Given the description of an element on the screen output the (x, y) to click on. 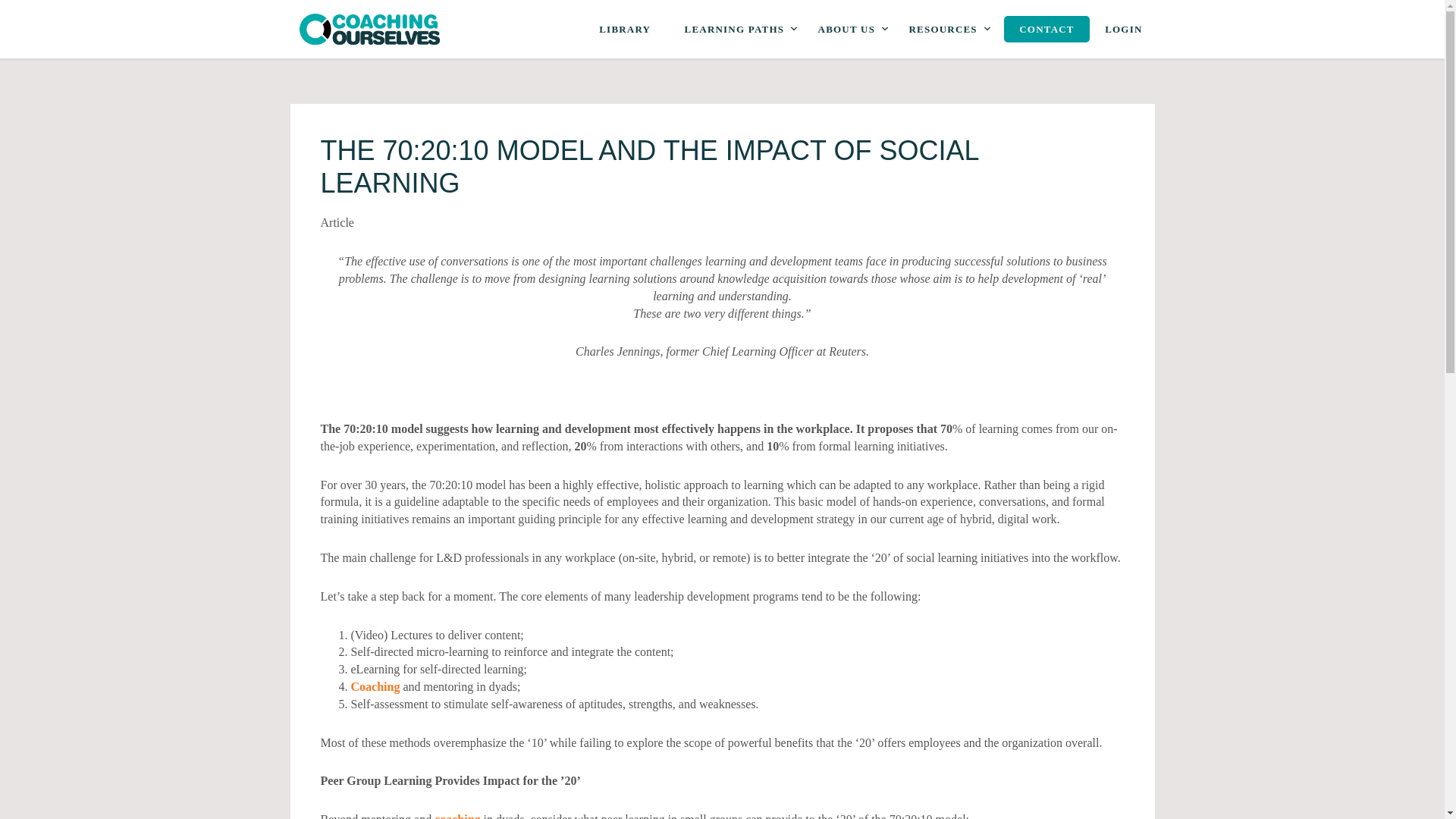
RESOURCES (943, 29)
Login (1123, 29)
LIBRARY (624, 29)
ABOUT US (846, 29)
CoachingOurselves (368, 29)
LOGIN (1123, 29)
coaching (456, 816)
Coaching (374, 686)
LEARNING PATHS (734, 29)
Our Authors (456, 816)
